Given the description of an element on the screen output the (x, y) to click on. 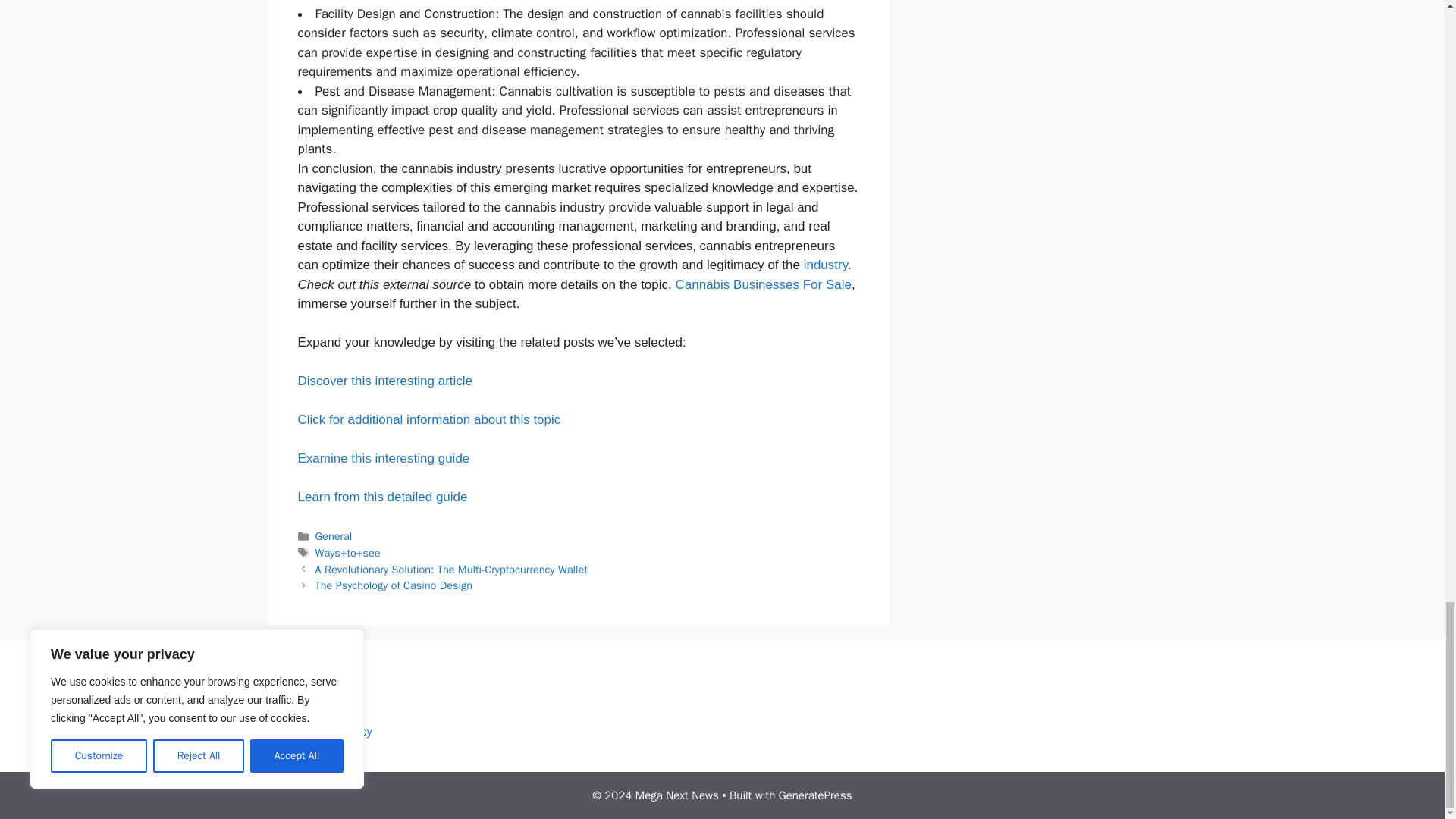
General (333, 535)
industry (825, 264)
Learn from this detailed guide (382, 496)
Click for additional information about this topic (428, 419)
The Psychology of Casino Design (393, 585)
Discover this interesting article (384, 380)
Cannabis Businesses For Sale (762, 284)
A Revolutionary Solution: The Multi-Cryptocurrency Wallet (451, 569)
Examine this interesting guide (382, 458)
